Given the description of an element on the screen output the (x, y) to click on. 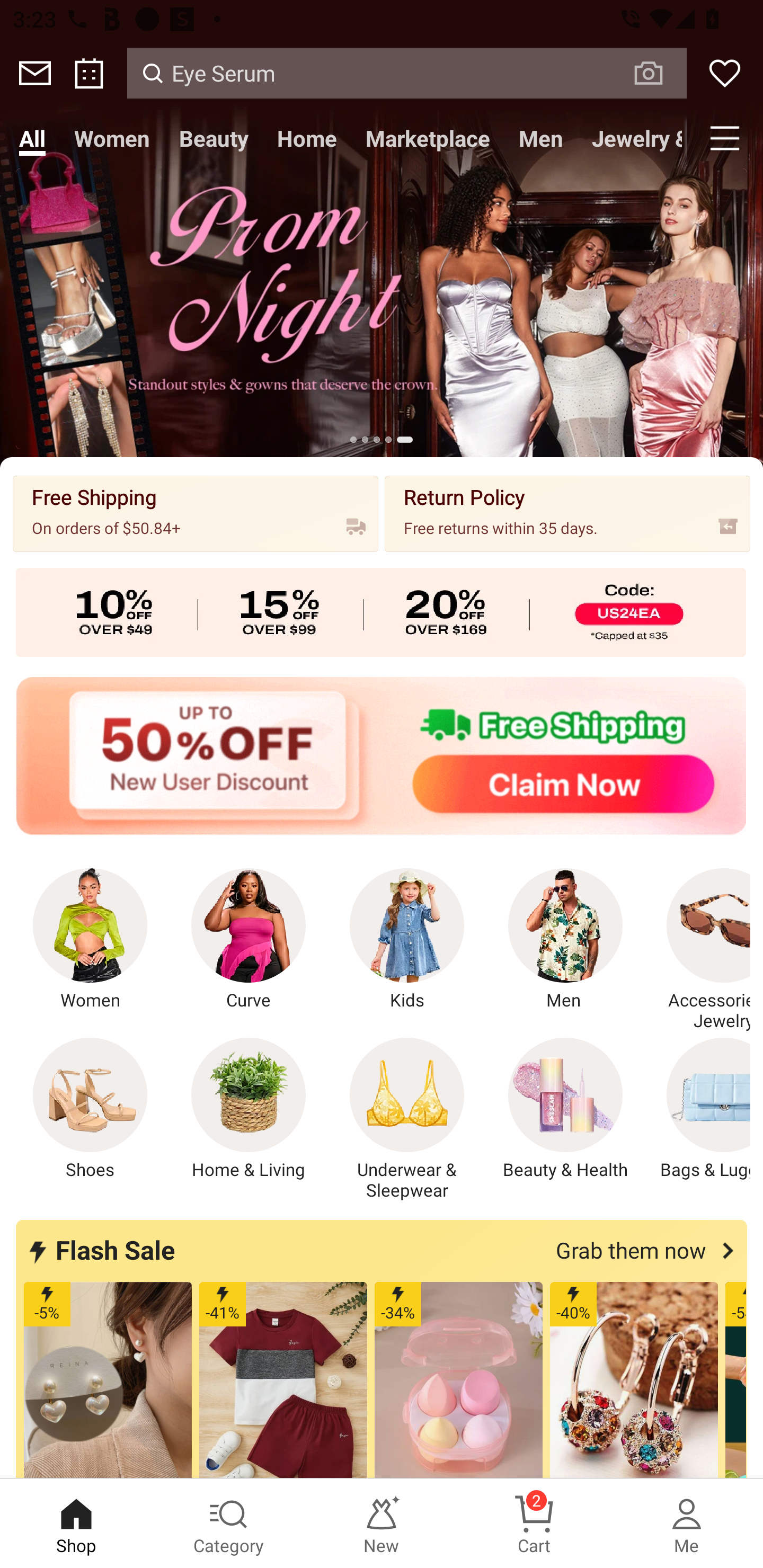
Wishlist (724, 72)
VISUAL SEARCH (657, 72)
All (31, 137)
Women (111, 137)
Beauty (213, 137)
Home (306, 137)
Marketplace (427, 137)
Men (540, 137)
Jewelry & Accs (631, 137)
Free Shipping On orders of $50.84+ (195, 513)
Return Policy Free returns within 35 days. (567, 513)
Women (89, 939)
Curve (248, 939)
Kids (406, 939)
Men  (565, 939)
Accessories & Jewelry (698, 949)
Shoes (89, 1109)
Home & Living (248, 1109)
Underwear & Sleepwear (406, 1119)
Beauty & Health (565, 1109)
Bags & Luggage (698, 1109)
Category (228, 1523)
New (381, 1523)
Cart 2 Cart (533, 1523)
Me (686, 1523)
